Given the description of an element on the screen output the (x, y) to click on. 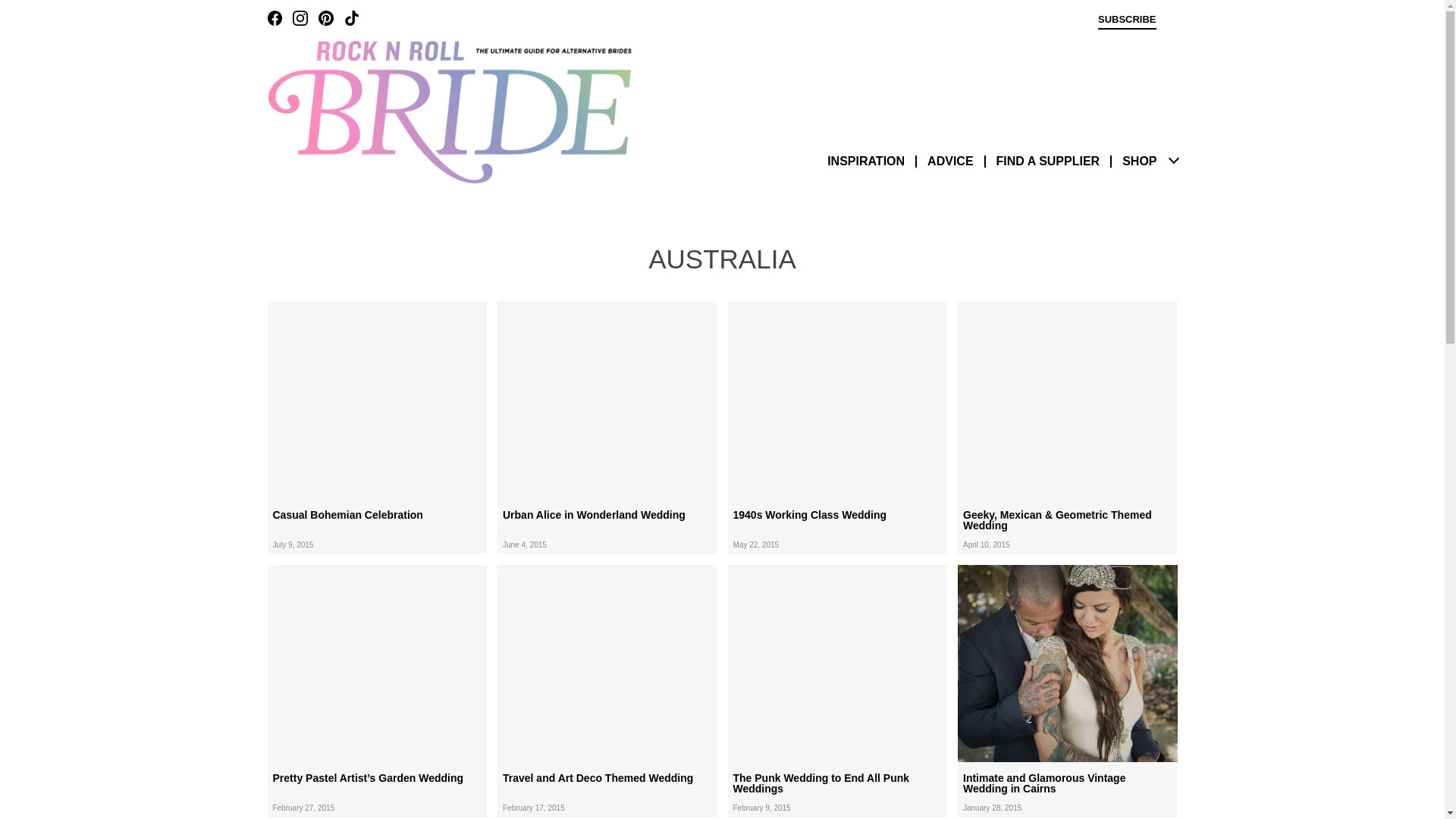
INSPIRATION (865, 160)
ADVICE (949, 160)
FIND A SUPPLIER (1047, 160)
SHOP (1139, 160)
SUBSCRIBE (1126, 21)
Rock n Roll Bride (448, 111)
Subscribe (1126, 21)
